Given the description of an element on the screen output the (x, y) to click on. 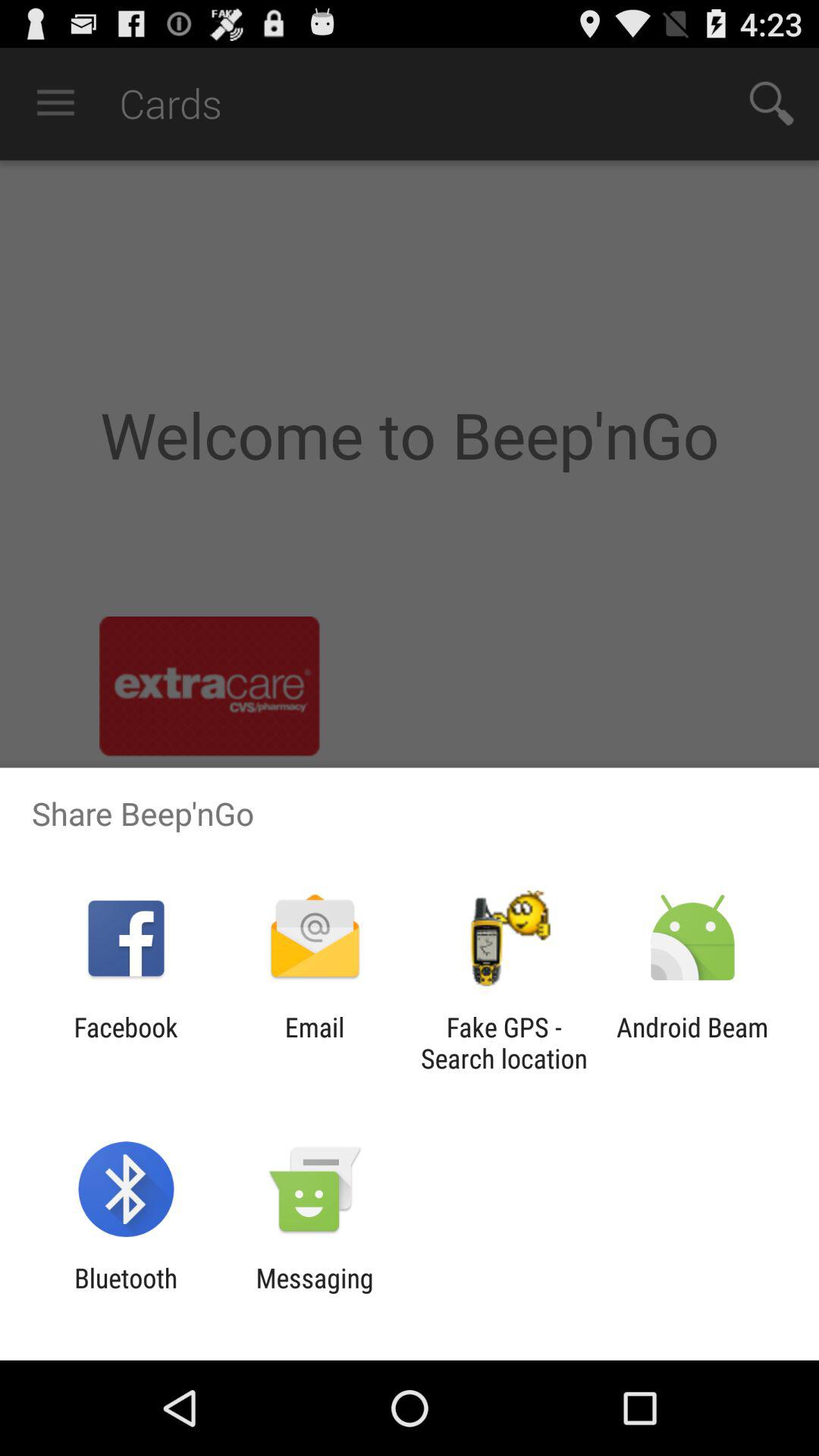
turn on item to the right of the facebook app (314, 1042)
